Given the description of an element on the screen output the (x, y) to click on. 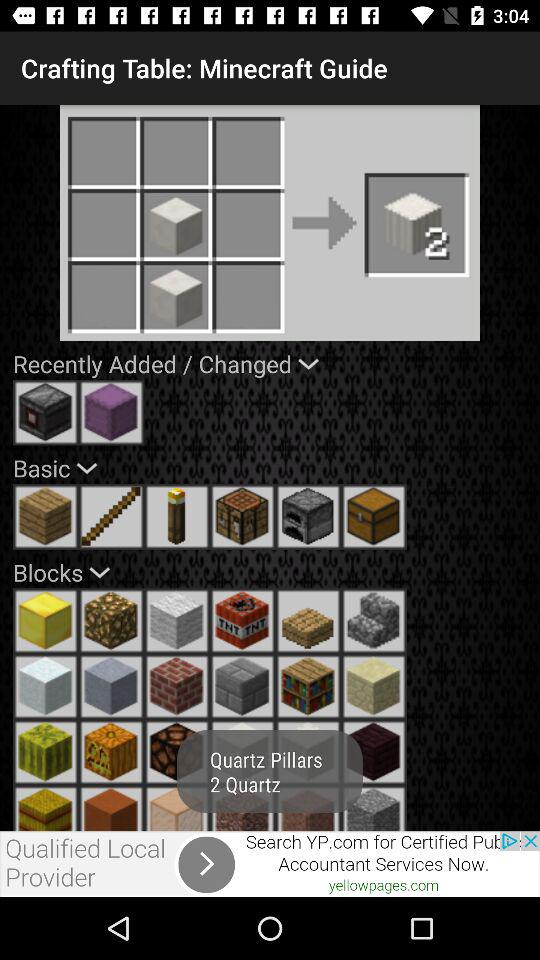
select the box (373, 516)
